Given the description of an element on the screen output the (x, y) to click on. 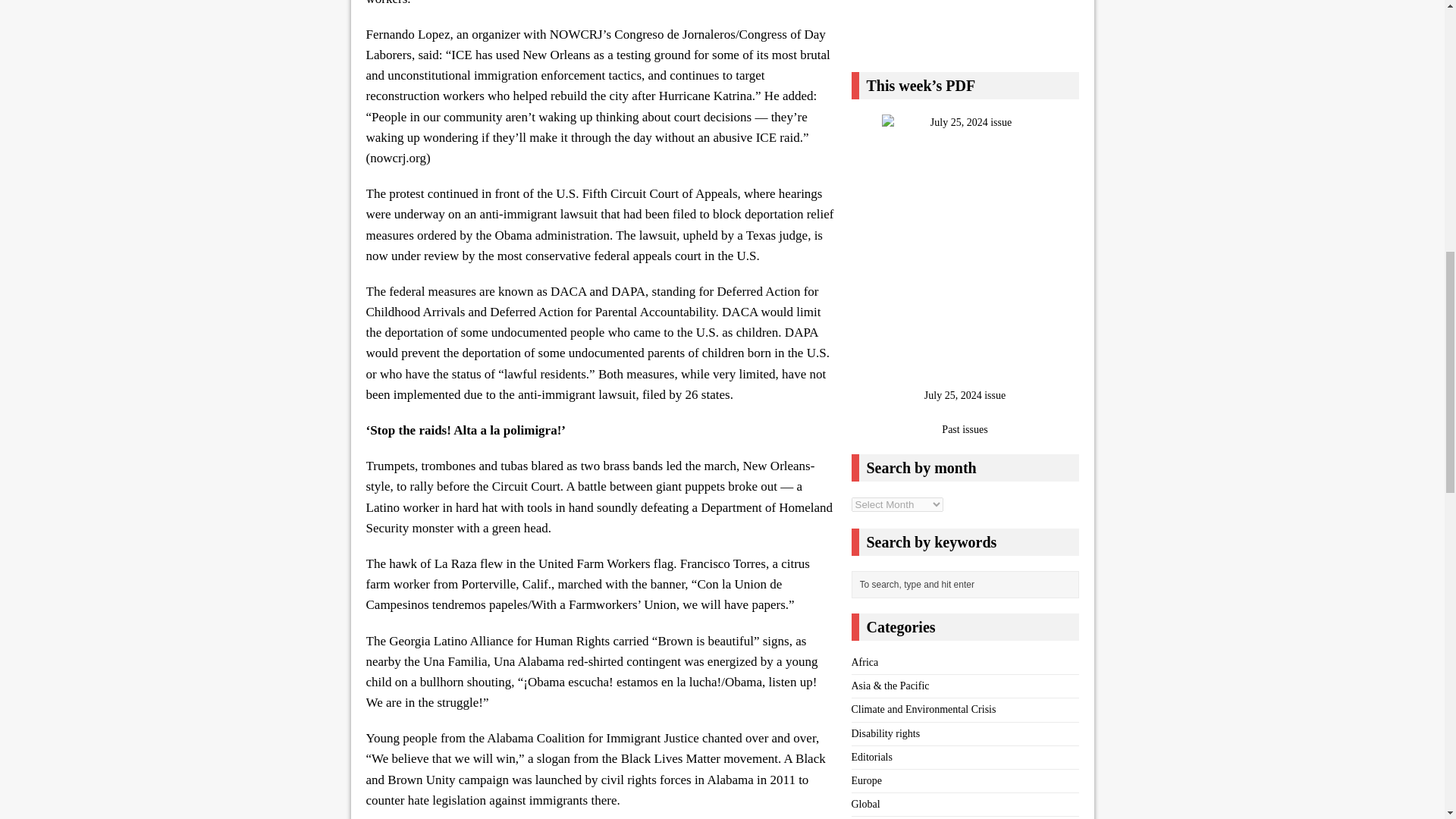
To search, type and hit enter (968, 584)
